Given the description of an element on the screen output the (x, y) to click on. 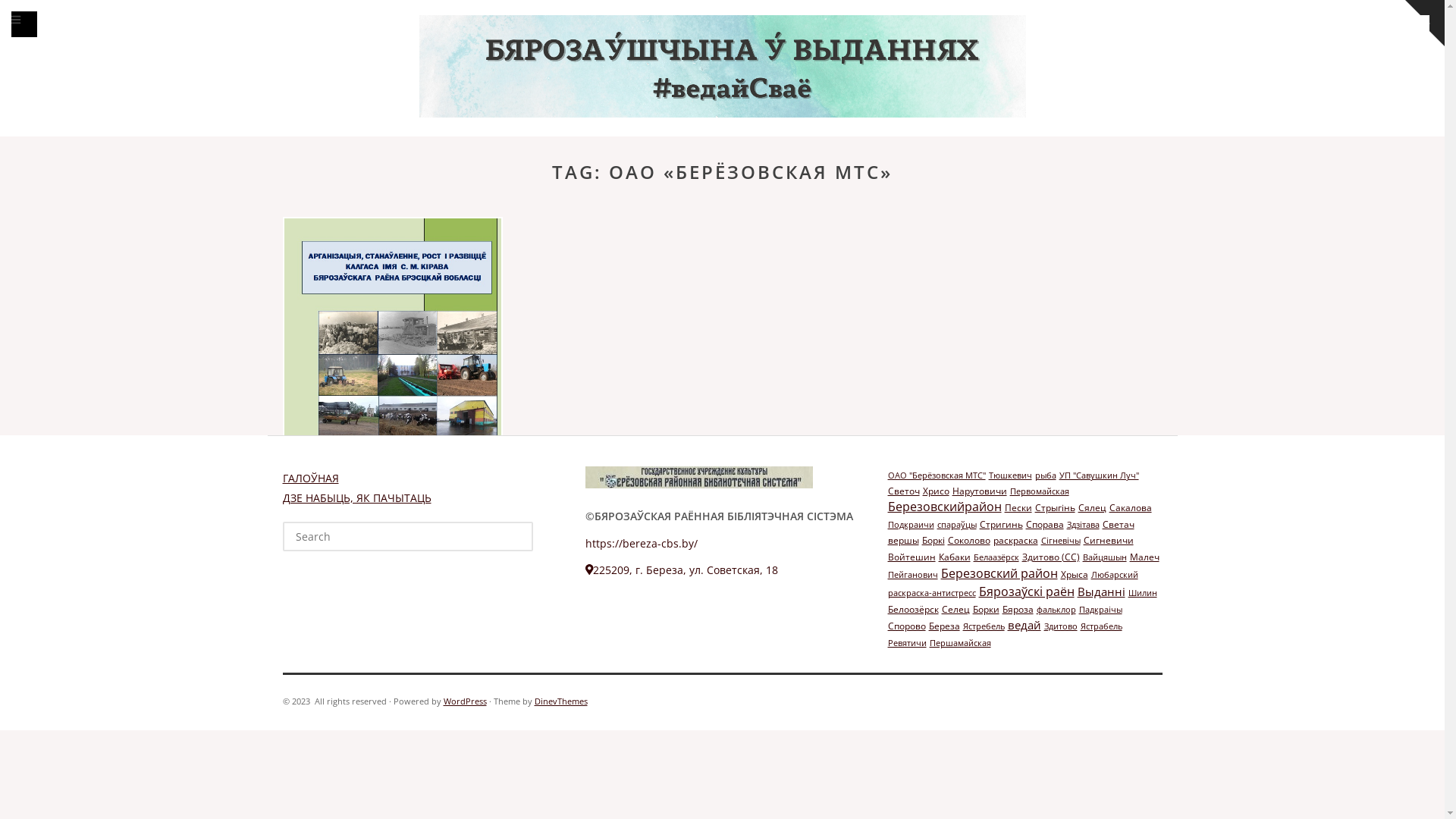
Search Element type: text (34, 13)
WordPress Element type: text (464, 700)
DinevThemes Element type: text (559, 700)
